Given the description of an element on the screen output the (x, y) to click on. 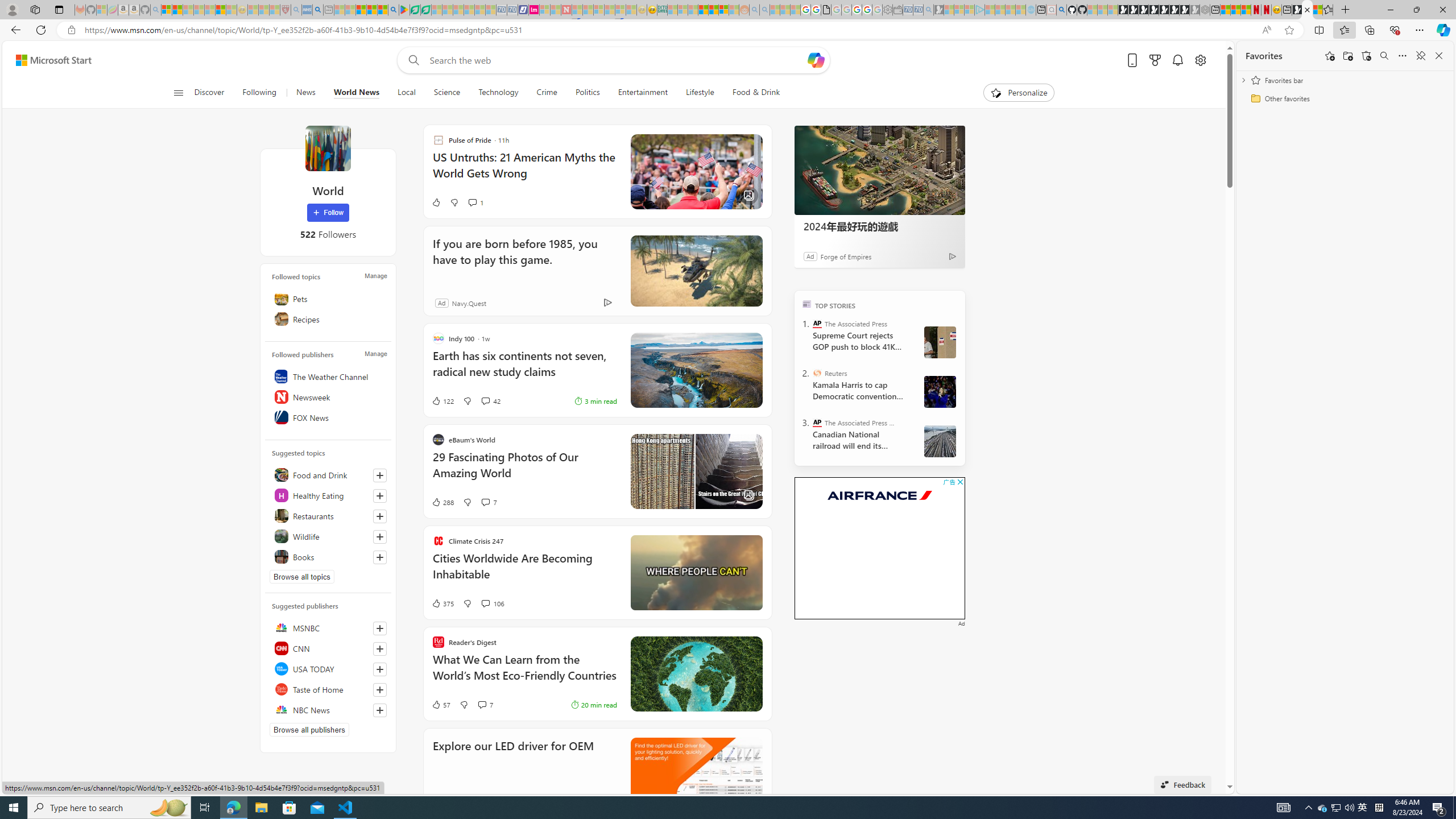
Pets - MSN (371, 9)
14 Common Myths Debunked By Scientific Facts - Sleeping (588, 9)
Pets (327, 298)
Local - MSN - Sleeping (274, 9)
